Given the description of an element on the screen output the (x, y) to click on. 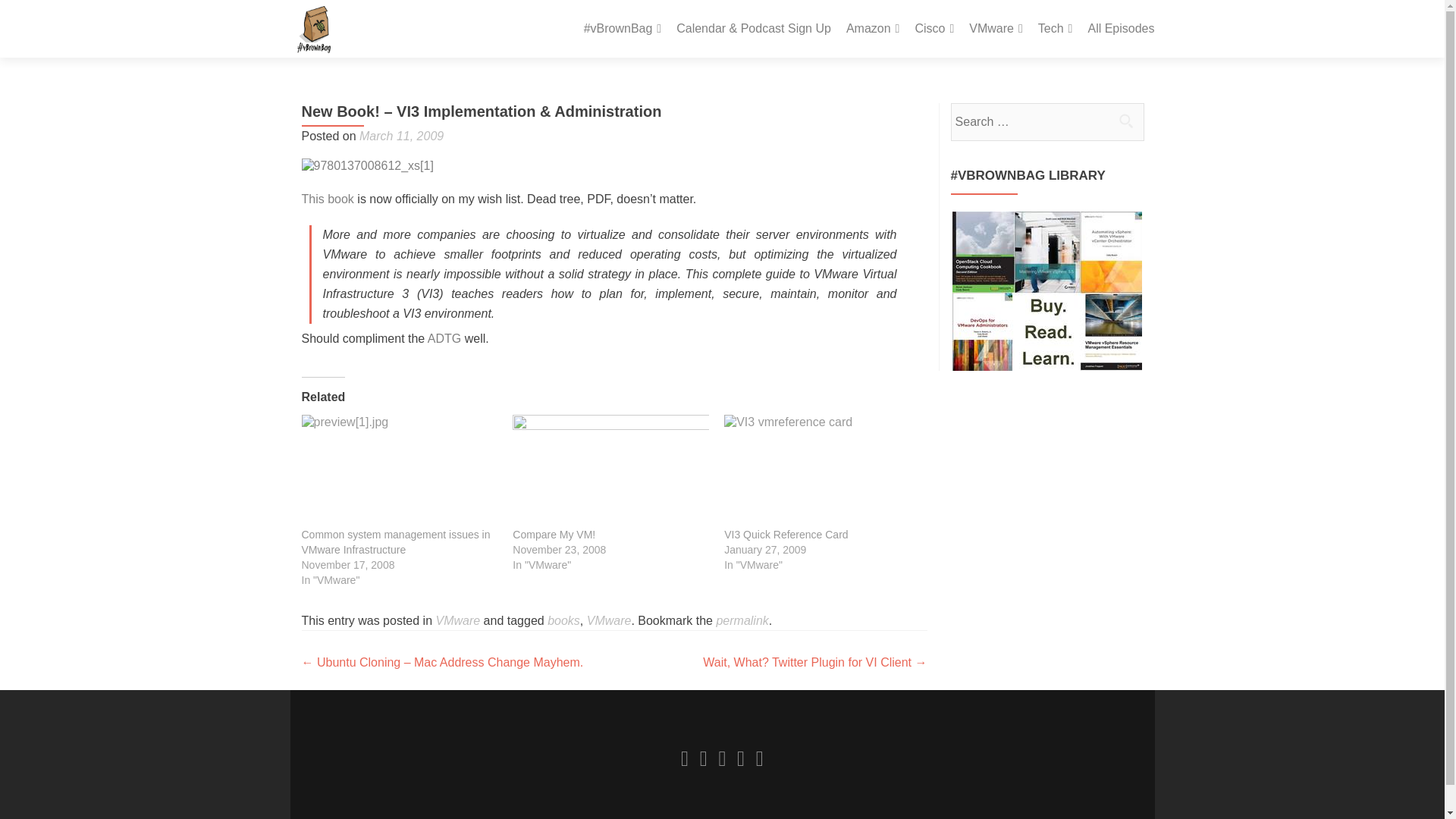
Compare My VM! (553, 534)
Search (1125, 120)
Search (1125, 120)
VI3 Quick Reference Card (821, 470)
Amazon (872, 28)
Compare My VM! (610, 470)
Cisco (933, 28)
Tech (1055, 28)
Common system management issues in VMware Infrastructure (395, 542)
Common system management issues in VMware Infrastructure (399, 470)
VI3 Quick Reference Card (785, 534)
VMware (996, 28)
